Given the description of an element on the screen output the (x, y) to click on. 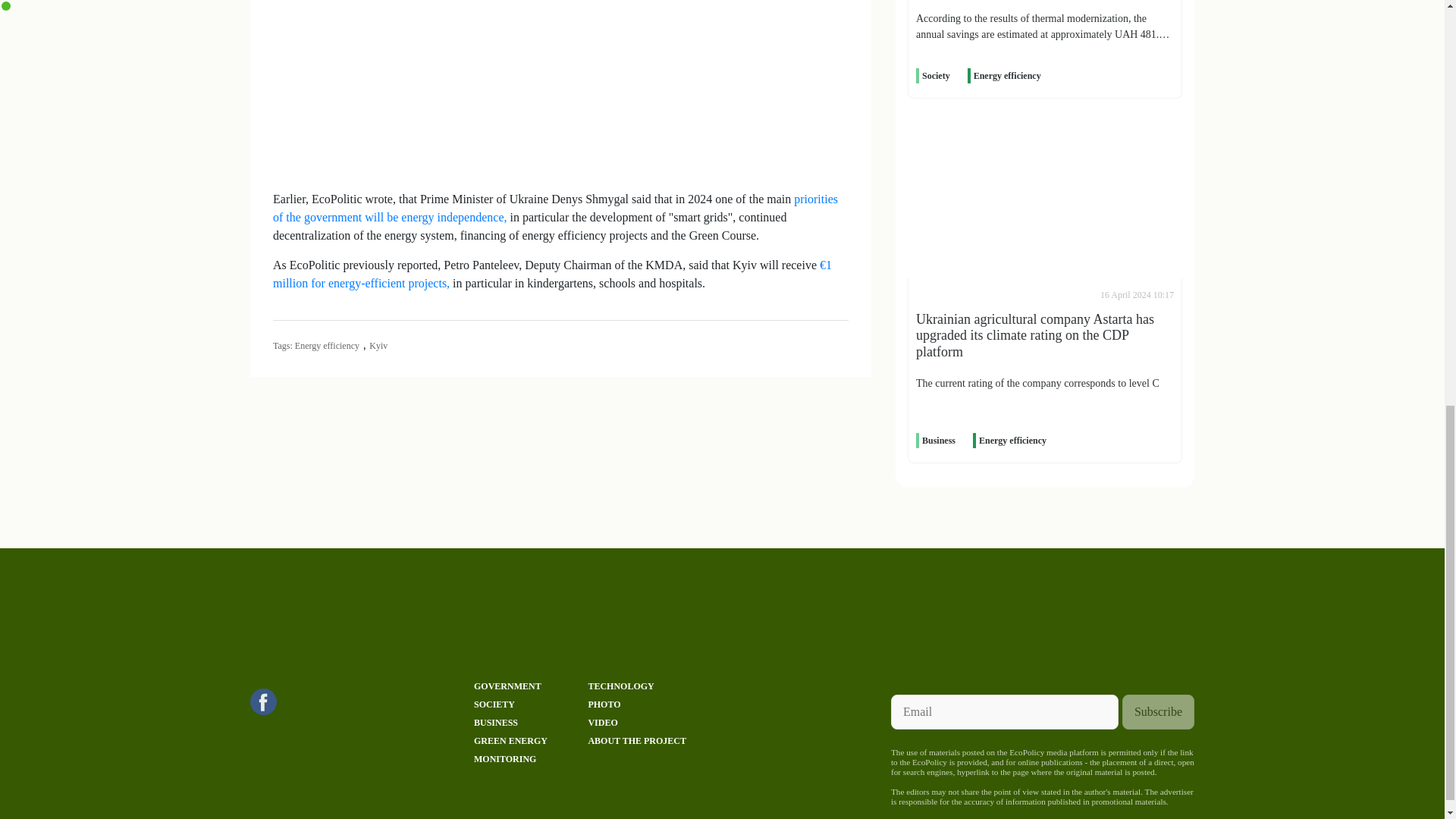
Society (935, 75)
priorities of the government will be energy independence, (555, 207)
Kyiv (378, 345)
Energy efficiency (327, 345)
Business (937, 440)
Energy efficiency (1007, 75)
GOVERNMENT (507, 685)
Energy efficiency (1012, 440)
